Given the description of an element on the screen output the (x, y) to click on. 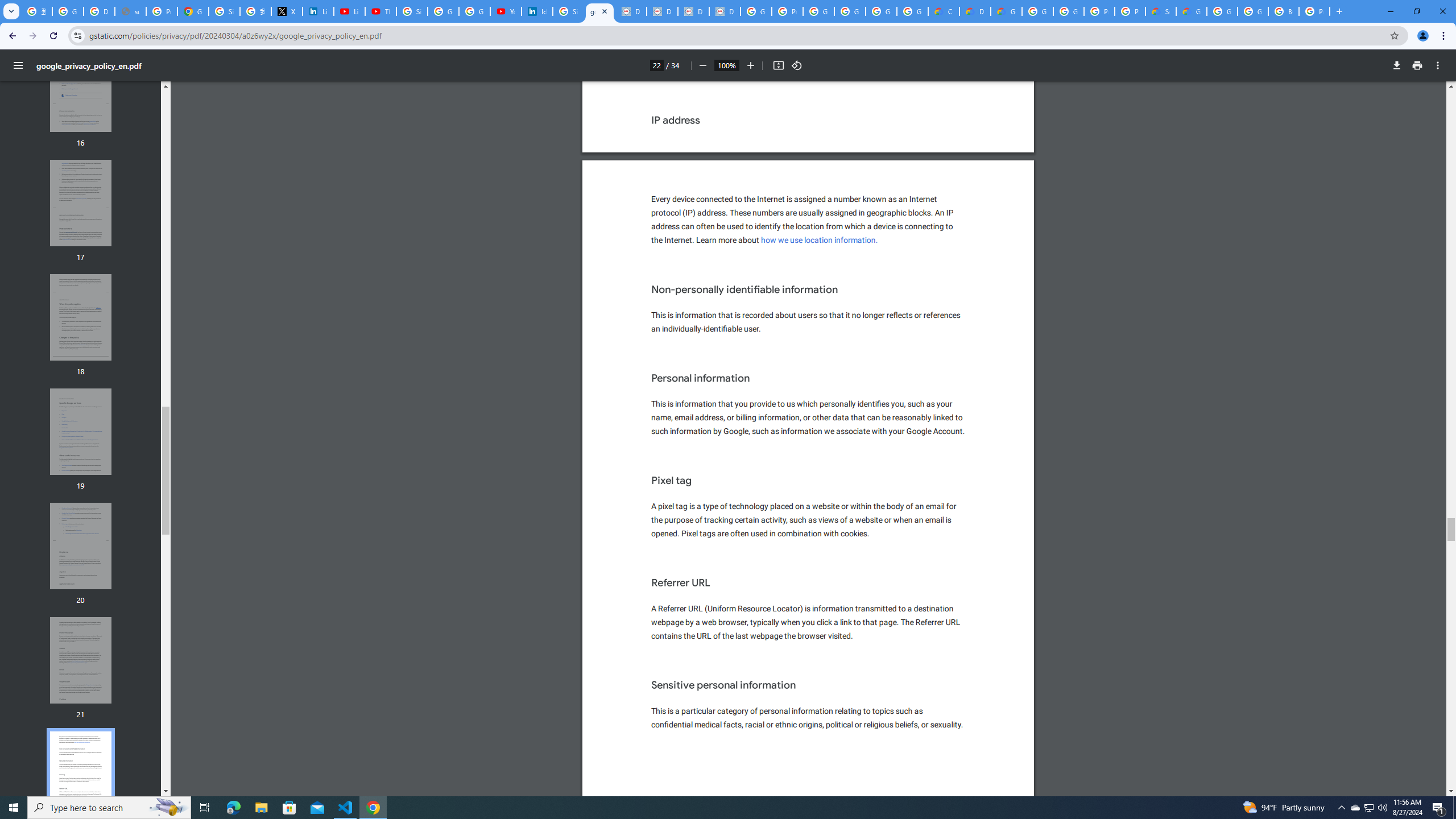
Data Privacy Framework (662, 11)
Sign in - Google Accounts (223, 11)
Data Privacy Framework (631, 11)
how we use location information. (820, 239)
Fit to page (777, 65)
Google Cloud Platform (1068, 11)
Data Privacy Framework (724, 11)
support.google.com - Network error (130, 11)
LinkedIn Privacy Policy (318, 11)
